Given the description of an element on the screen output the (x, y) to click on. 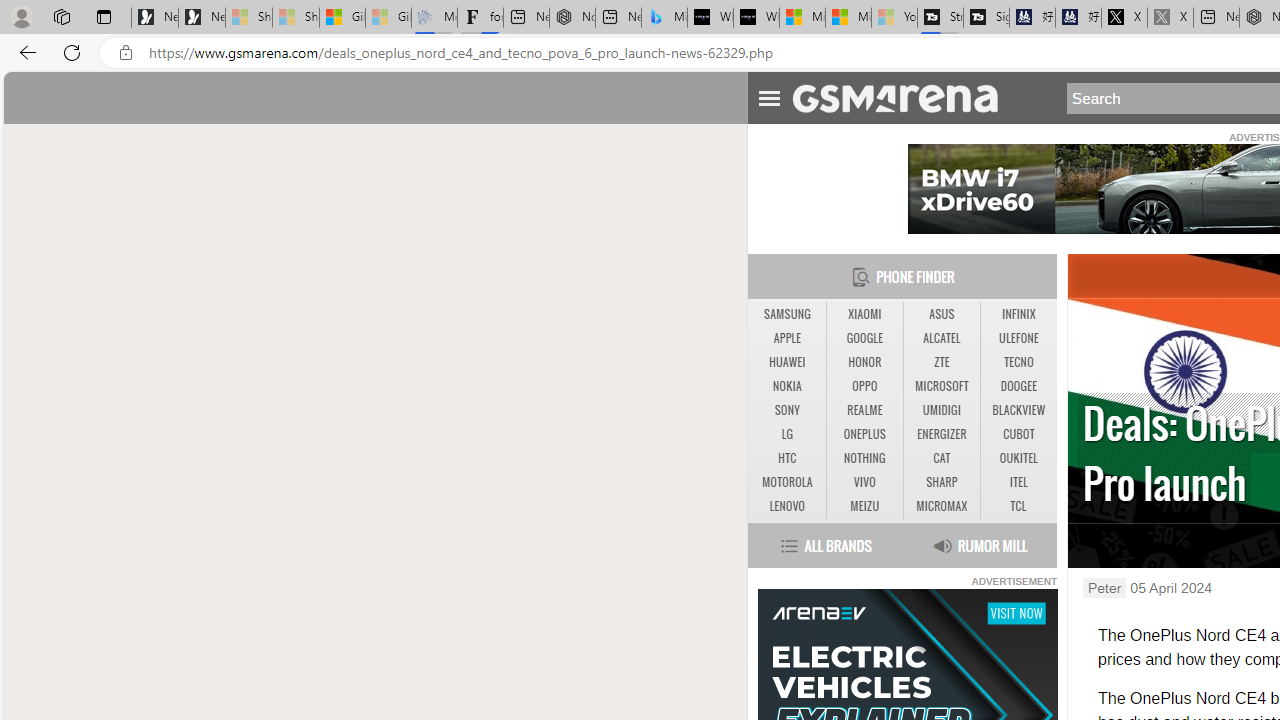
ALCATEL (941, 338)
HONOR (864, 362)
CAT (941, 457)
NOKIA (786, 386)
ULEFONE (1018, 338)
ALCATEL (941, 339)
SAMSUNG (786, 313)
Newsletter Sign Up (202, 17)
TECNO (1018, 362)
CAT (941, 458)
MICROMAX (941, 506)
